Given the description of an element on the screen output the (x, y) to click on. 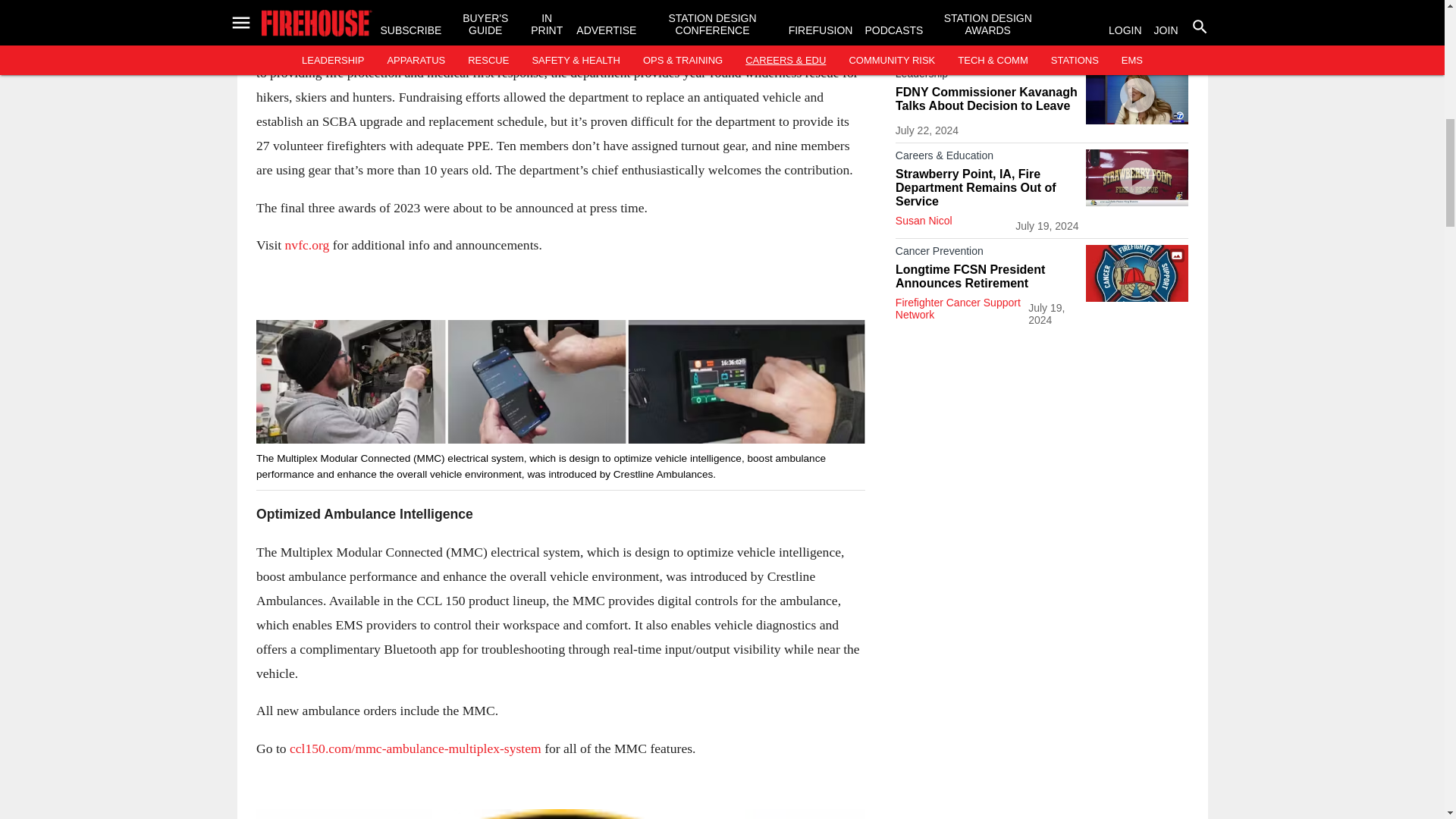
FDNY commissioner Kavanagh talks resignation, time on job (1137, 95)
Strawberry Point fire department will remain out of service (1137, 177)
